Given the description of an element on the screen output the (x, y) to click on. 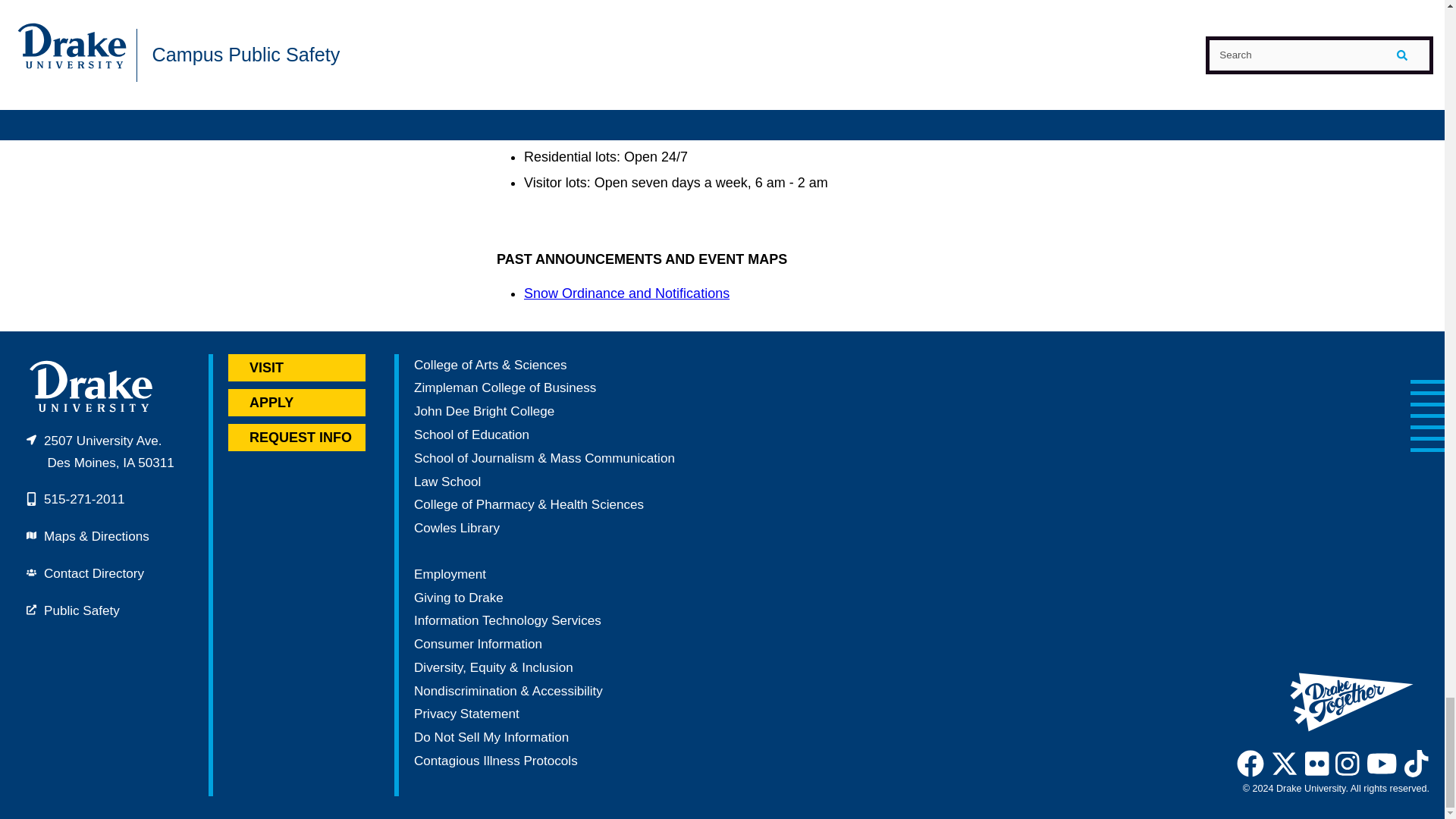
2507 University Ave (100, 452)
Make a financial contribution to Drake University (458, 597)
Contact Directory (93, 573)
Public Safety (81, 610)
